Given the description of an element on the screen output the (x, y) to click on. 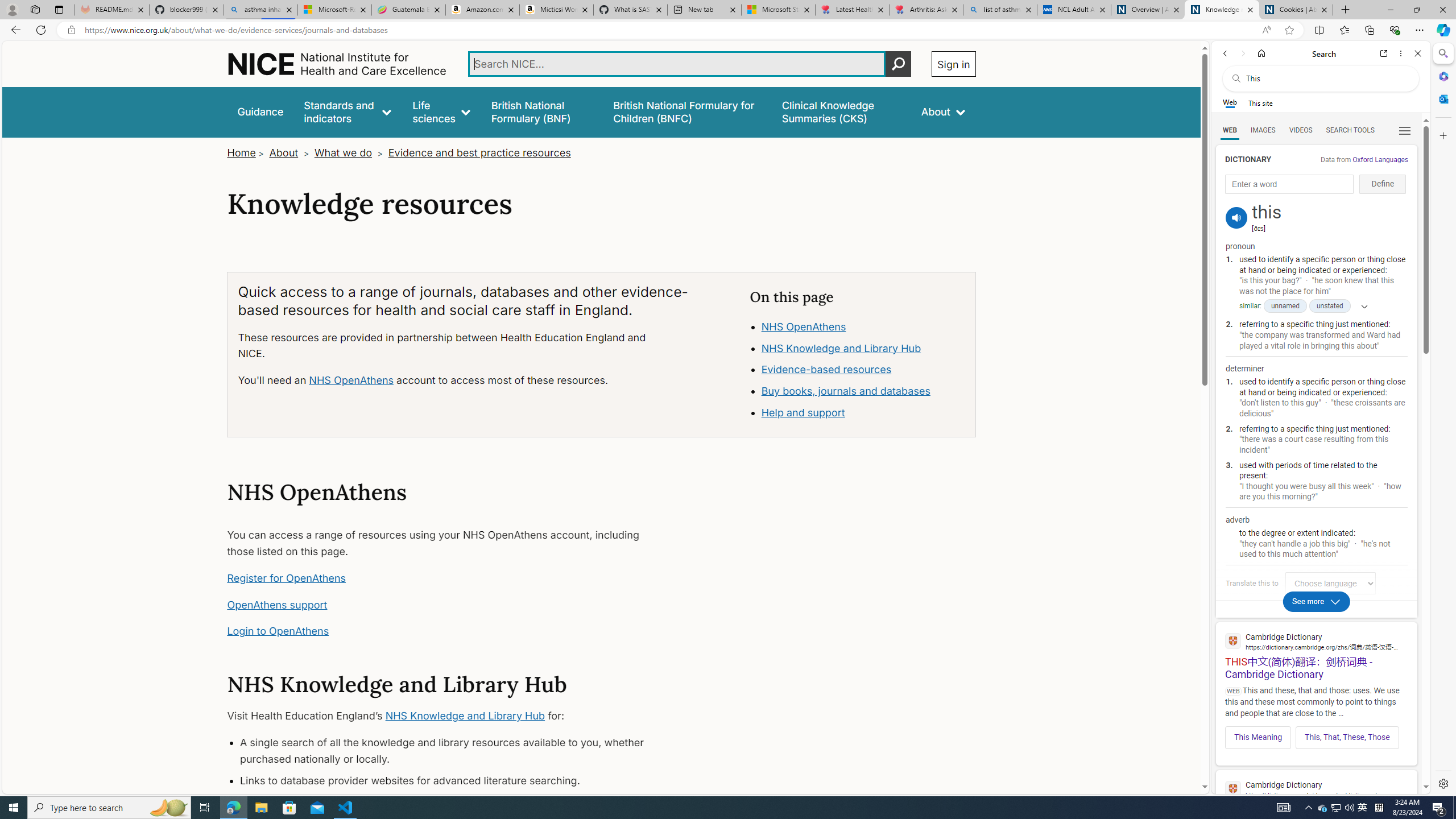
SEARCH TOOLS (1350, 130)
Evidence and best practice resources (478, 152)
This Meaning (1257, 737)
NHS OpenAthens (863, 326)
unstated (1329, 305)
Life sciences (440, 111)
